Given the description of an element on the screen output the (x, y) to click on. 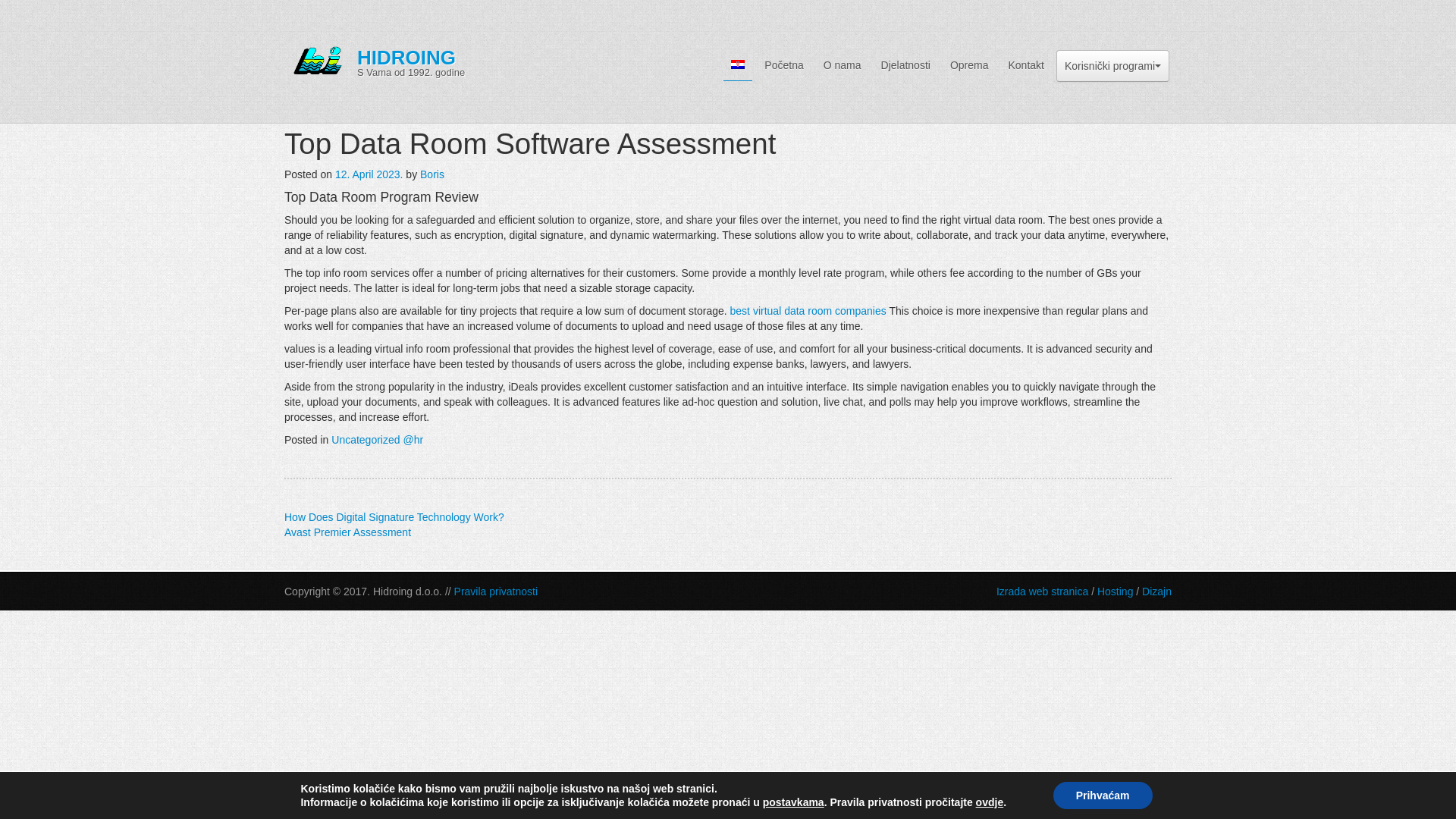
Web hosting (1114, 591)
O nama (842, 64)
How Does Digital Signature Technology Work? (393, 517)
12. April 2023. (368, 174)
best virtual data room companies (808, 310)
Oprema (968, 64)
Izrada web stranica (1041, 591)
Boris (432, 174)
Djelatnosti (905, 64)
Dizajn (1156, 591)
